Given the description of an element on the screen output the (x, y) to click on. 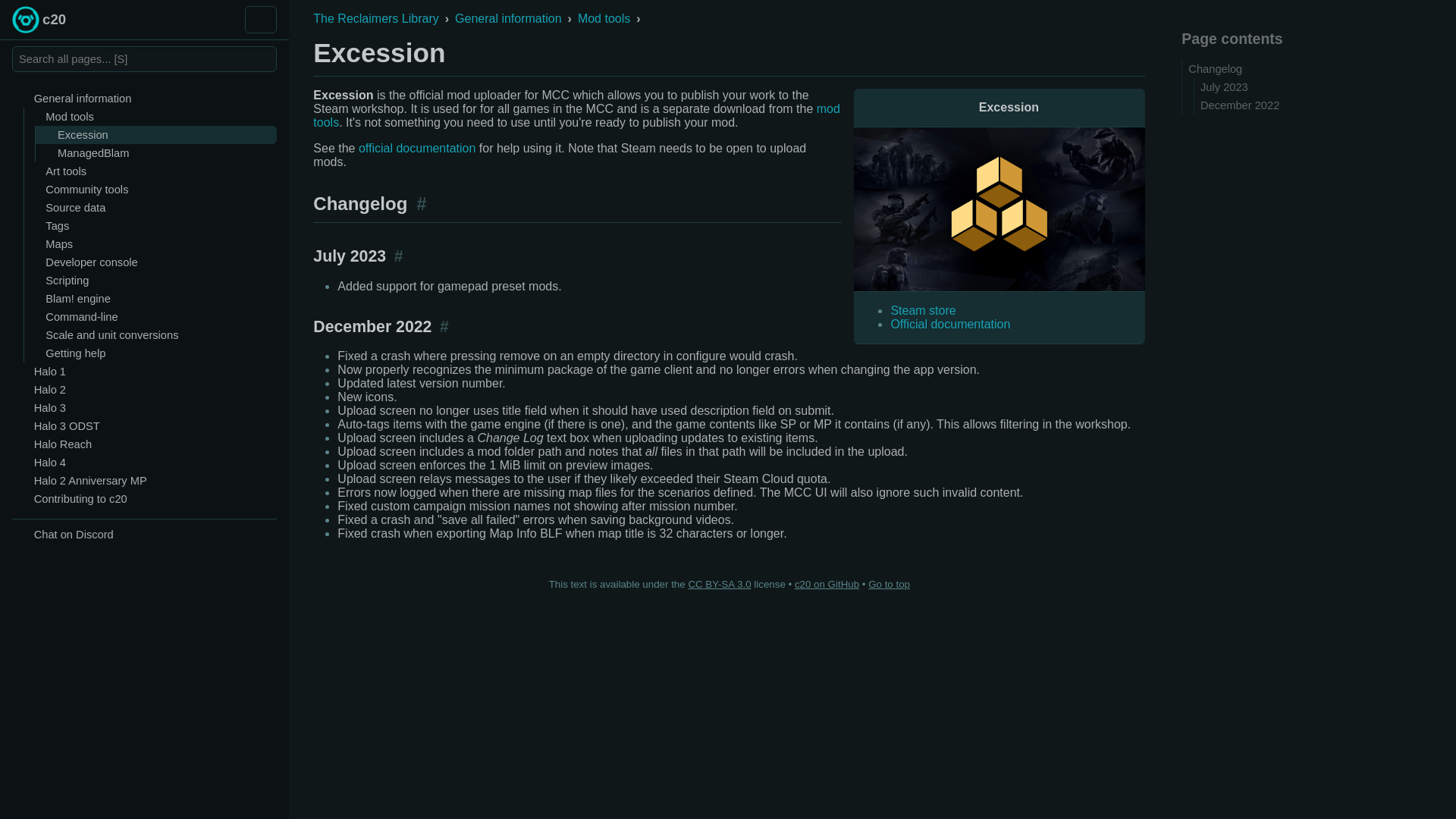
Edit (1108, 56)
Developer console (151, 262)
Halo 2 (132, 389)
Maps (151, 244)
Report a wiki issue (1132, 56)
Blam! engine (151, 298)
Halo 3 (132, 407)
Chat on Discord (65, 534)
Halo 1 (132, 371)
Scale and unit conversions (151, 334)
